Given the description of an element on the screen output the (x, y) to click on. 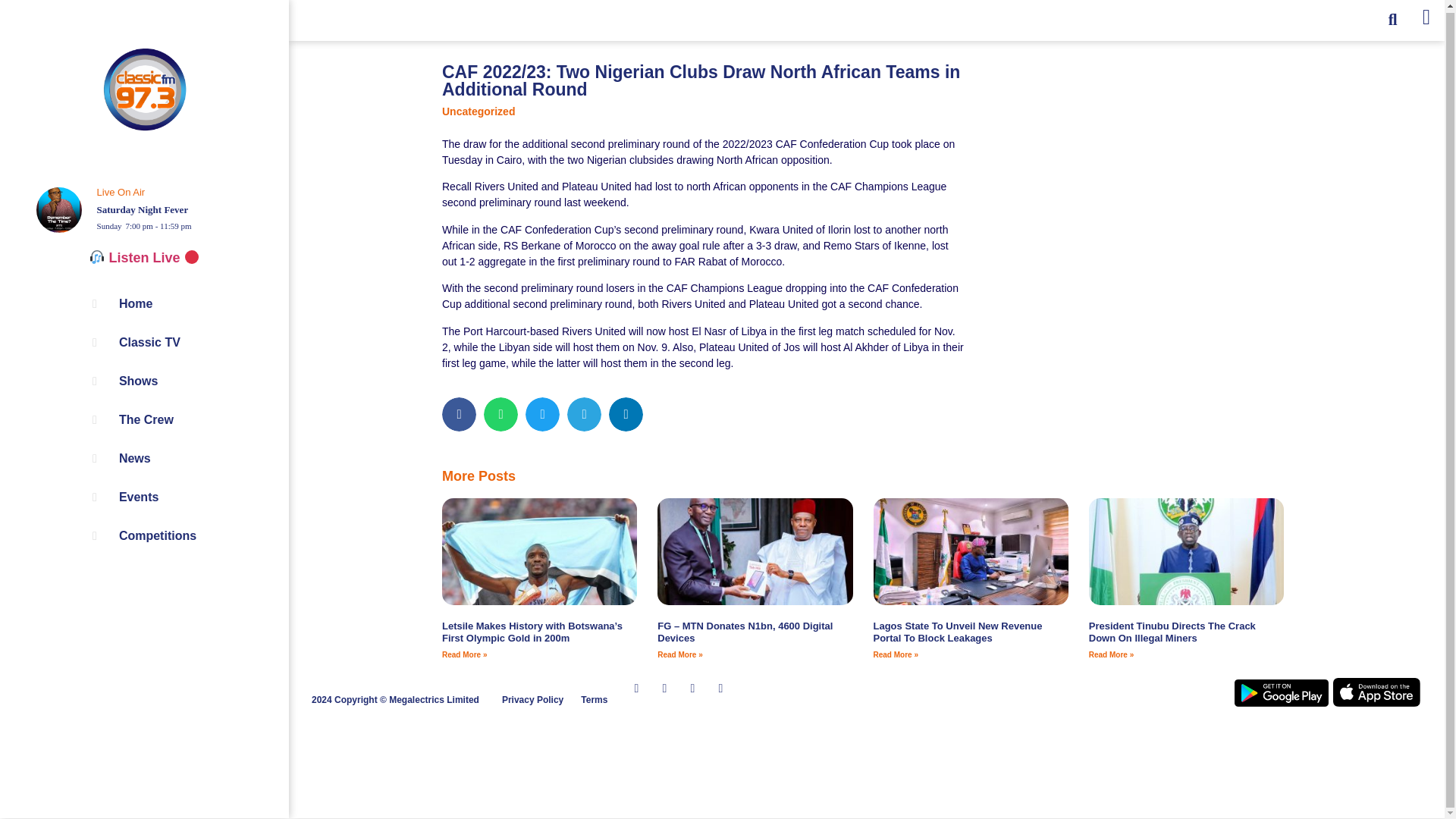
Terms (593, 699)
The Crew (133, 420)
News (122, 458)
Listen Live (143, 257)
Events (125, 497)
Classic TV (136, 342)
President Tinubu Directs The Crack Down On Illegal Miners (1172, 631)
Home (122, 303)
Lagos State To Unveil New Revenue Portal To Block Leakages (957, 631)
Competitions (144, 536)
